Given the description of an element on the screen output the (x, y) to click on. 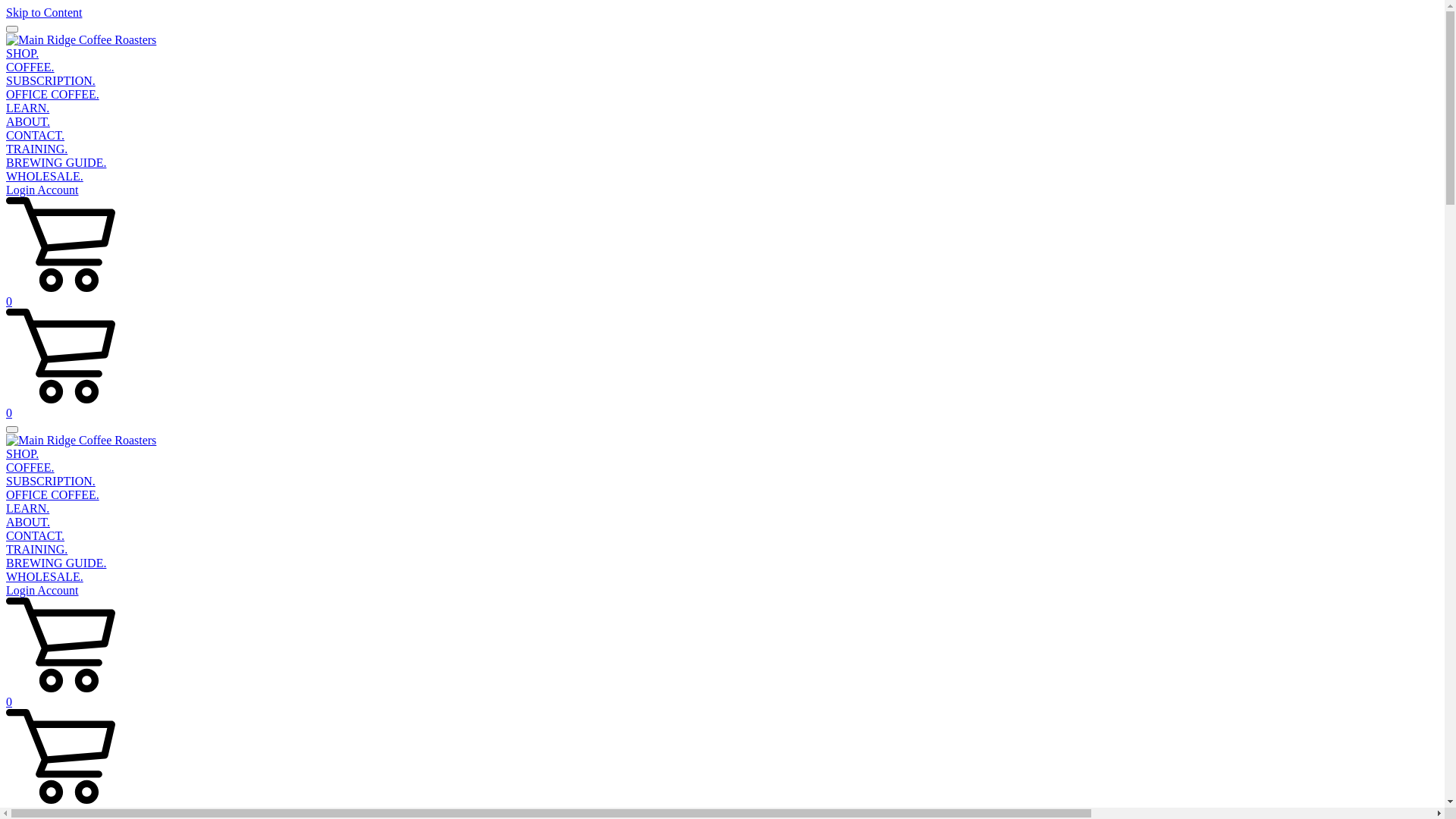
Login Account Element type: text (42, 589)
WHOLESALE. Element type: text (44, 576)
SUBSCRIPTION. Element type: text (50, 80)
TRAINING. Element type: text (36, 148)
LEARN. Element type: text (27, 508)
Skip to Content Element type: text (43, 12)
0 Element type: text (722, 294)
SHOP. Element type: text (22, 53)
COFFEE. Element type: text (30, 66)
WHOLESALE. Element type: text (44, 175)
COFFEE. Element type: text (30, 467)
CONTACT. Element type: text (35, 535)
0 Element type: text (722, 406)
LEARN. Element type: text (27, 107)
CONTACT. Element type: text (35, 134)
OFFICE COFFEE. Element type: text (52, 93)
BREWING GUIDE. Element type: text (56, 562)
OFFICE COFFEE. Element type: text (52, 494)
ABOUT. Element type: text (28, 521)
SHOP. Element type: text (22, 453)
TRAINING. Element type: text (36, 548)
0 Element type: text (722, 695)
Login Account Element type: text (42, 189)
BREWING GUIDE. Element type: text (56, 162)
SUBSCRIPTION. Element type: text (50, 480)
ABOUT. Element type: text (28, 121)
